Given the description of an element on the screen output the (x, y) to click on. 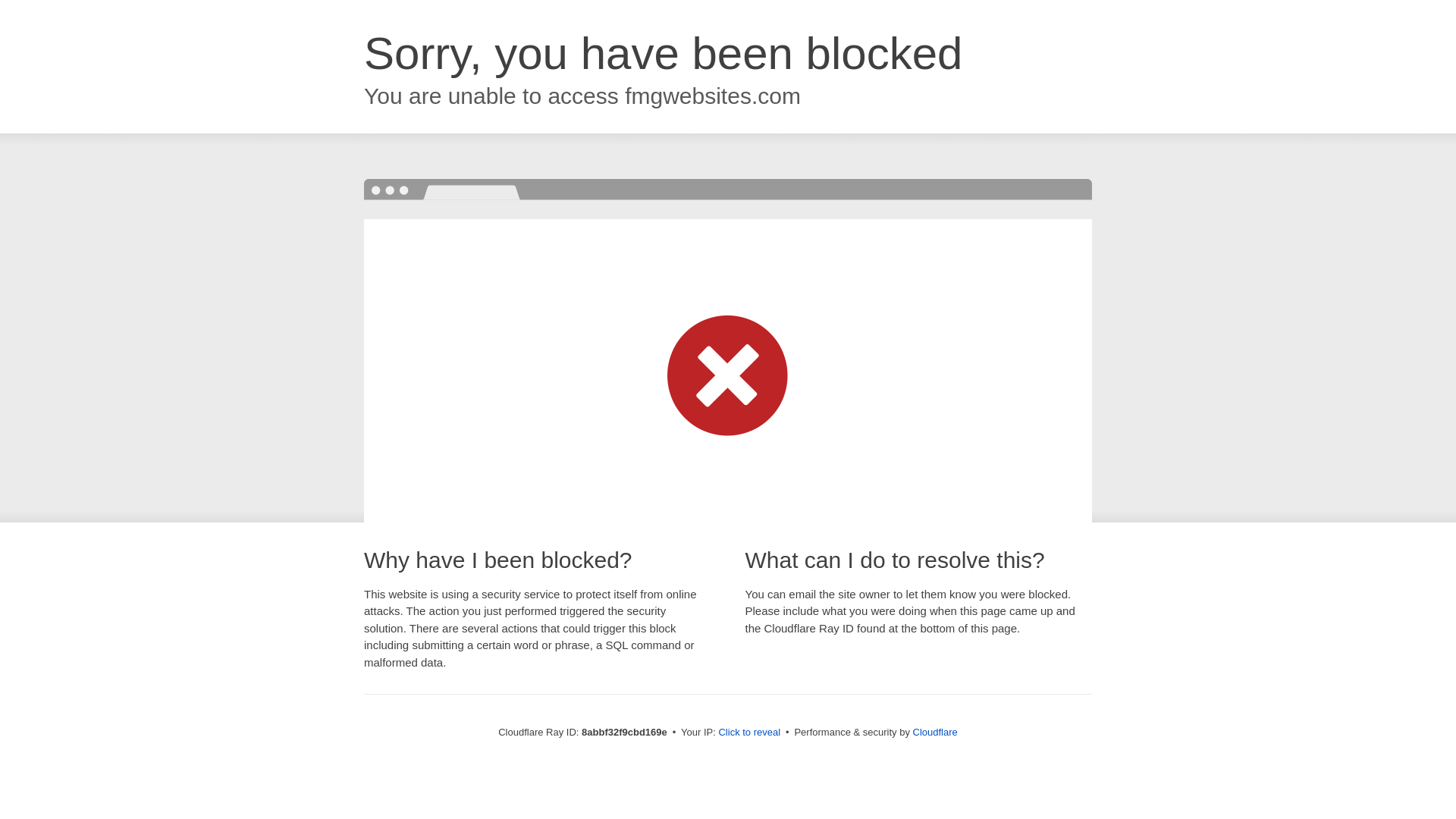
Cloudflare (935, 731)
Click to reveal (748, 732)
